Given the description of an element on the screen output the (x, y) to click on. 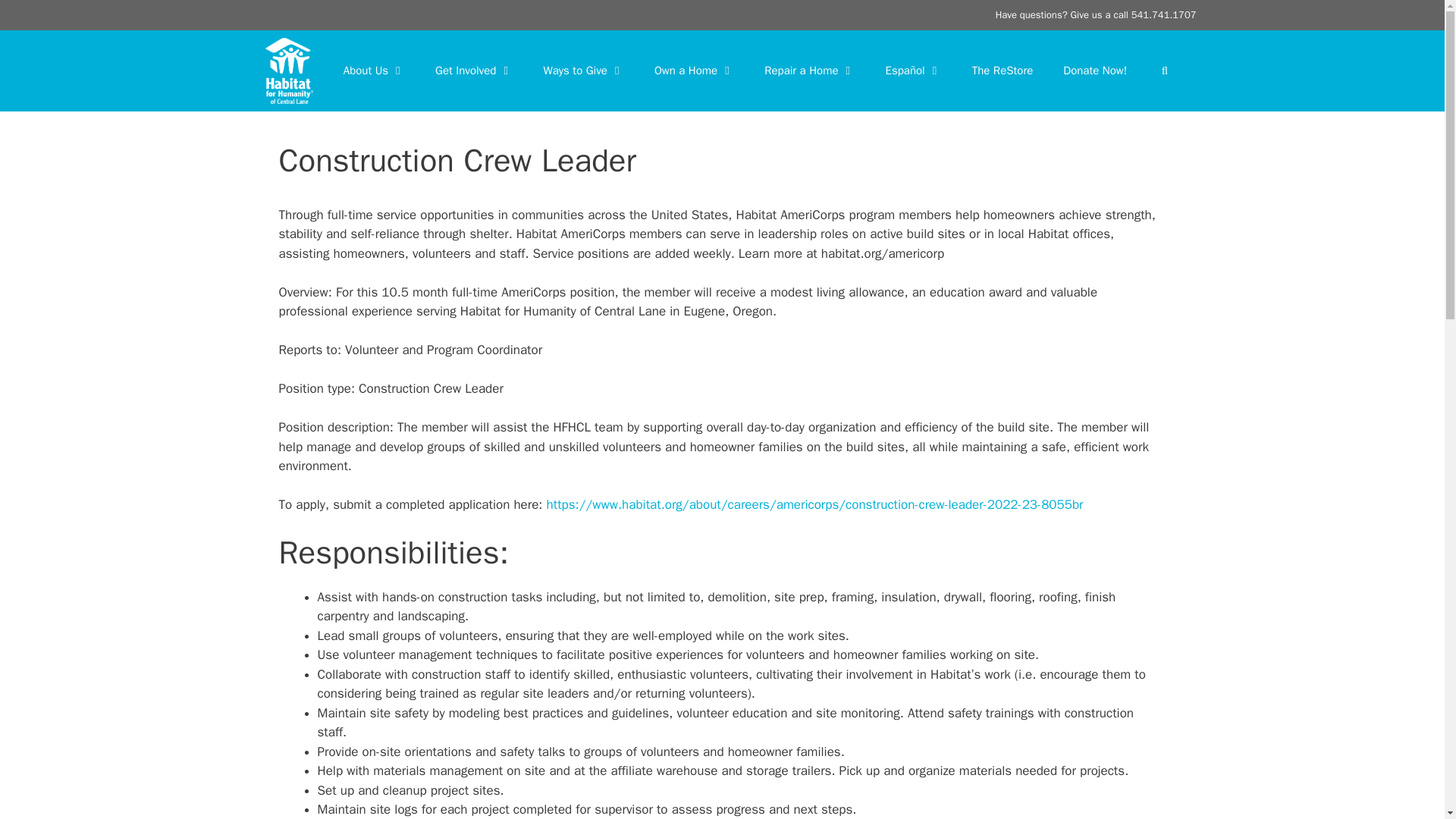
Get Involved (473, 70)
Ways to Give (583, 70)
Own a Home (694, 70)
Repair a Home (809, 70)
About Us (374, 70)
Have questions? Give us a call 541.741.1707 (1095, 14)
